Given the description of an element on the screen output the (x, y) to click on. 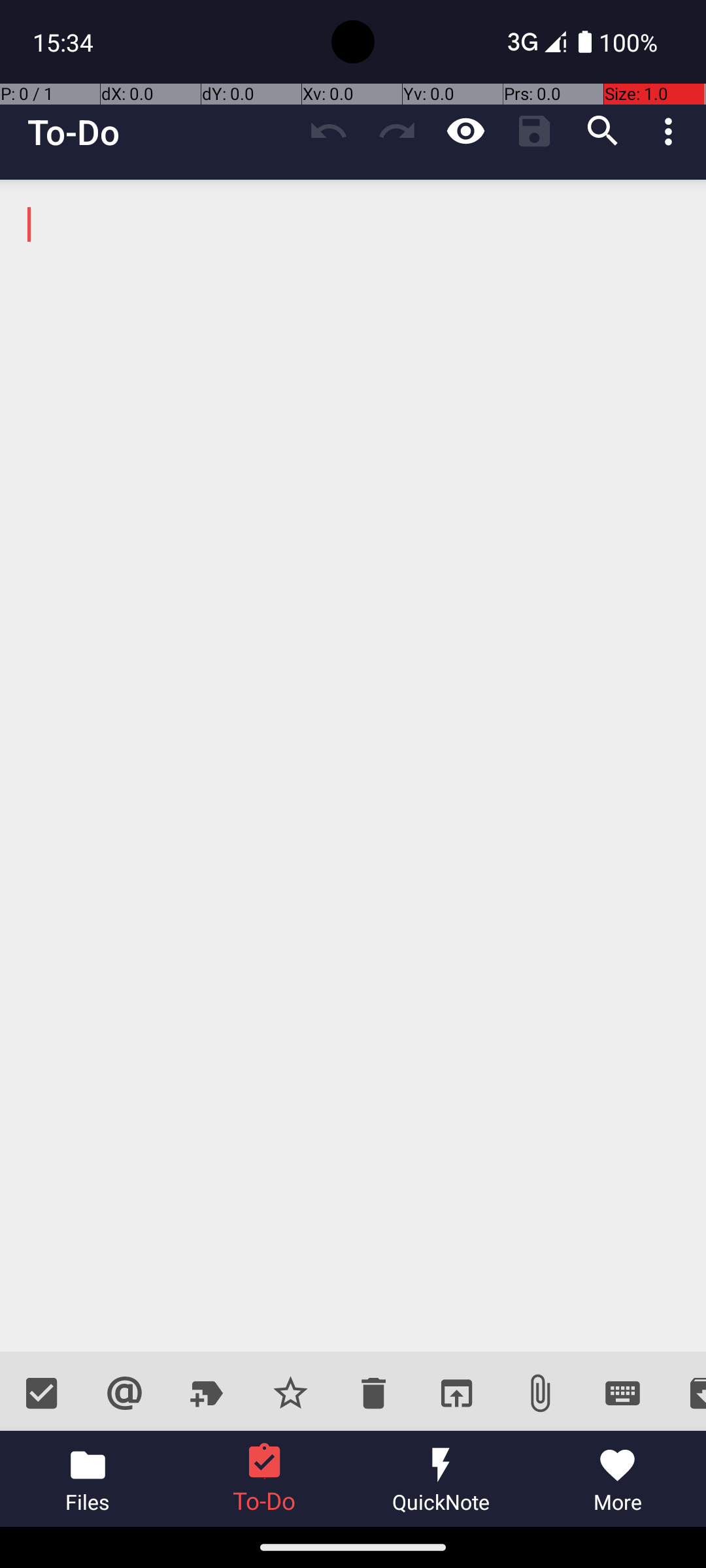
Toggle done Element type: android.widget.ImageView (41, 1392)
Add context Element type: android.widget.ImageView (124, 1392)
Add project Element type: android.widget.ImageView (207, 1392)
Priority Element type: android.widget.ImageView (290, 1392)
Archive completed tasks Element type: android.widget.ImageView (685, 1392)
